Given the description of an element on the screen output the (x, y) to click on. 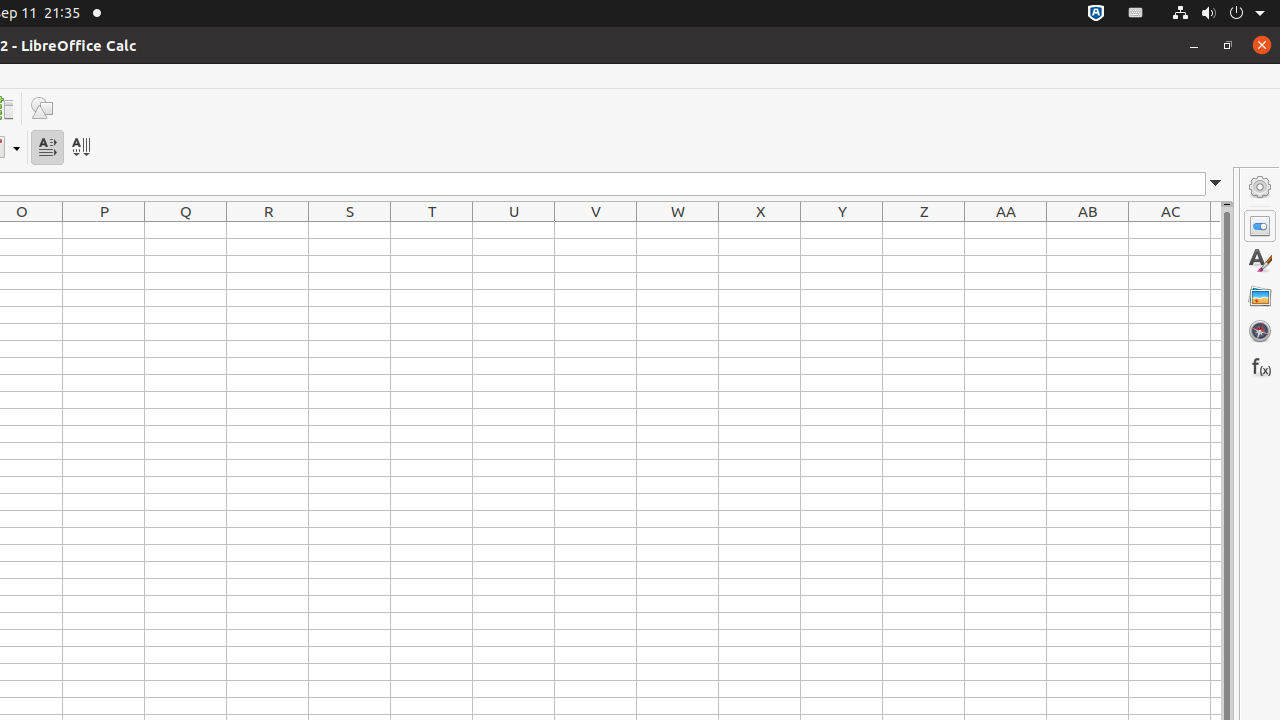
Gallery Element type: radio-button (1260, 296)
Y1 Element type: table-cell (842, 230)
Draw Functions Element type: toggle-button (41, 108)
Z1 Element type: table-cell (924, 230)
